Given the description of an element on the screen output the (x, y) to click on. 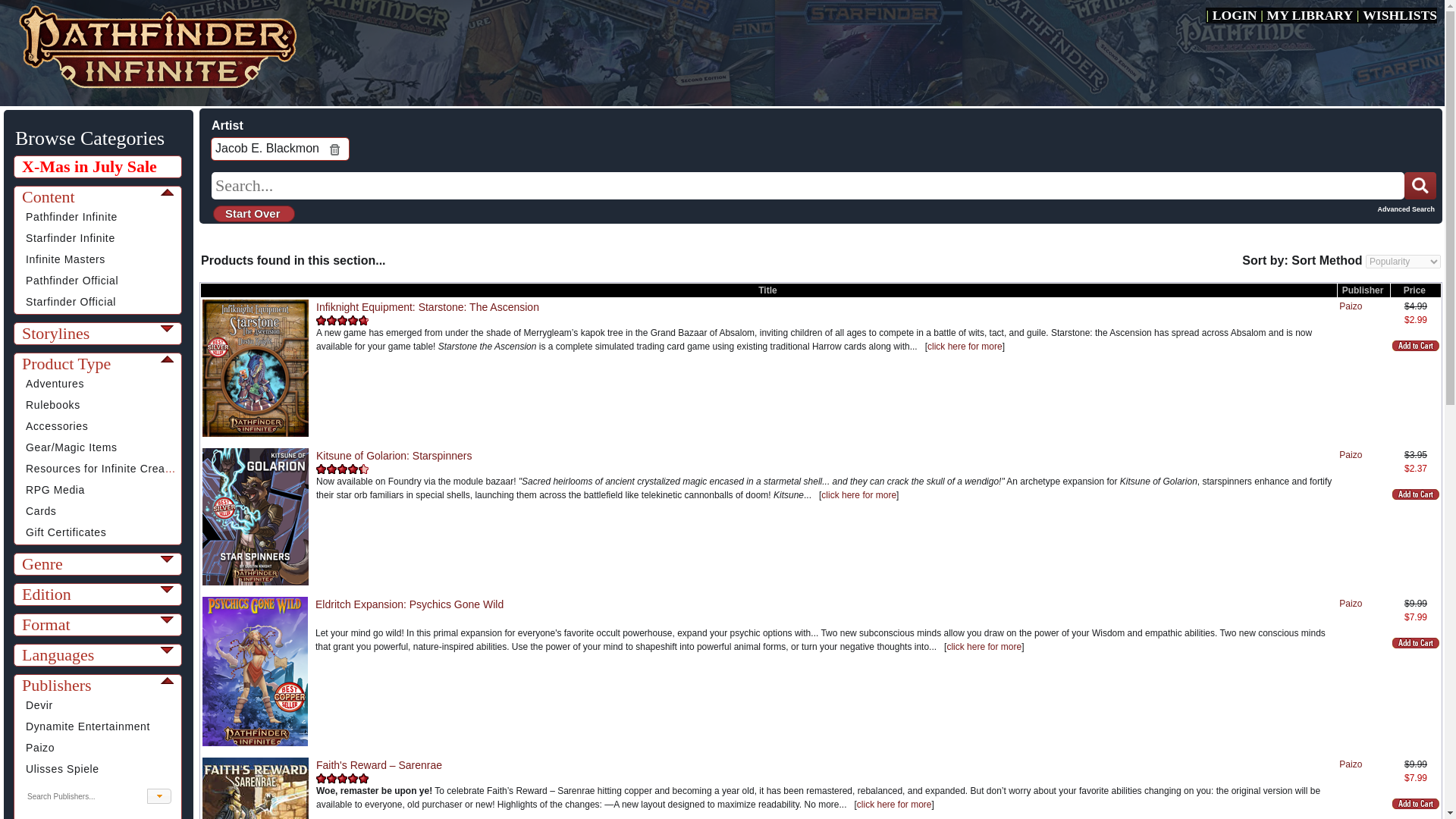
Adventures (55, 383)
MY LIBRARY (1310, 14)
LOGIN (1234, 14)
X-Mas in July Sale (98, 166)
Starfinder Official (71, 301)
Infinite Masters (65, 259)
Pathfinder Official (71, 280)
Pathfinder Infinite (71, 216)
Resources for Infinite Creators (105, 468)
Rulebooks (53, 404)
RPG Media (55, 490)
Show all Publishers (159, 795)
Starfinder Infinite (70, 237)
Accessories (56, 426)
WISHLISTS (1399, 14)
